Given the description of an element on the screen output the (x, y) to click on. 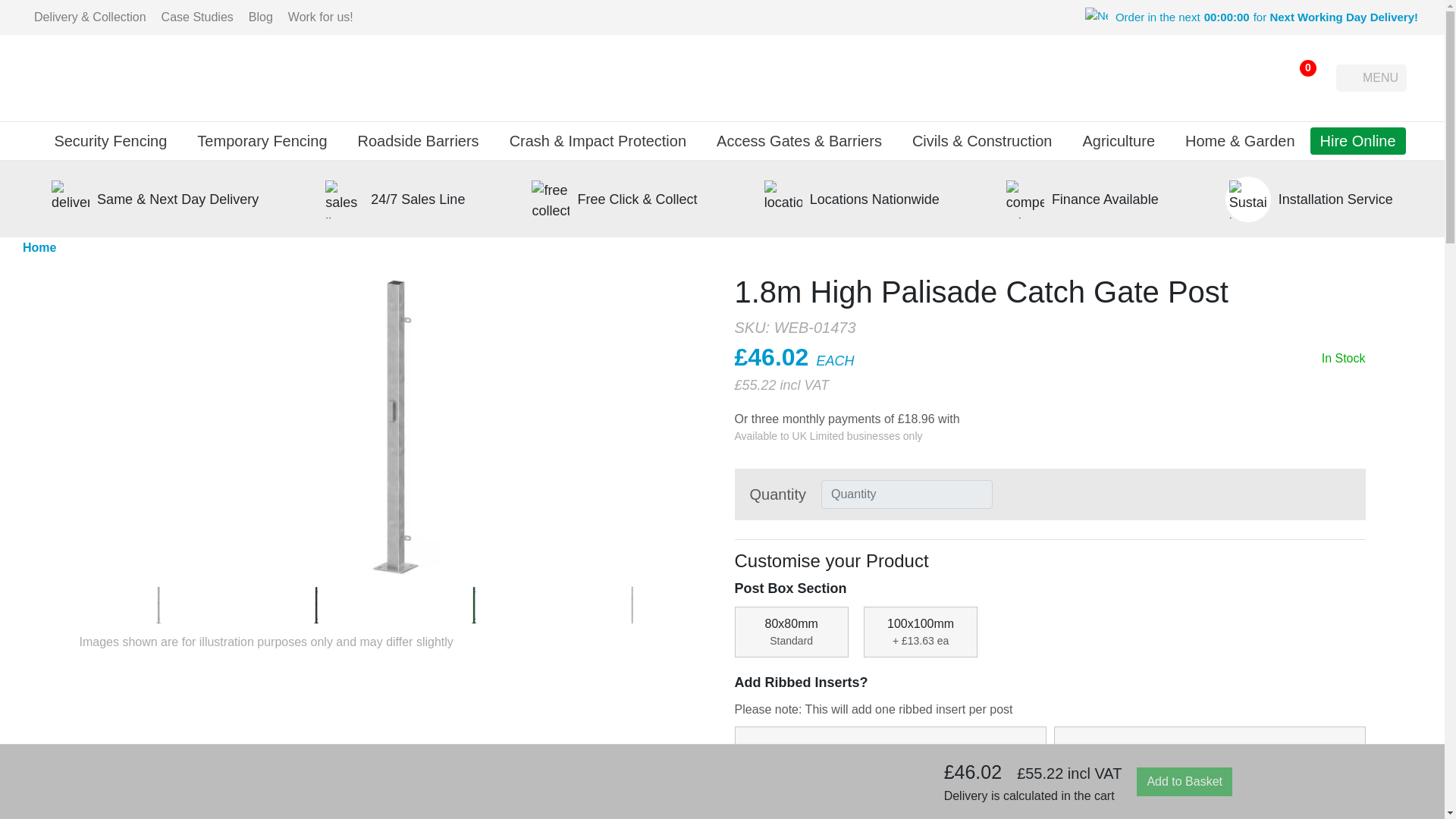
MENU (1371, 77)
0 (1297, 77)
Blog (261, 17)
Add to Basket (1184, 781)
Case Studies (197, 17)
Home (39, 248)
Work for us! (321, 17)
Installation Service (1335, 199)
Locations Nationwide (874, 199)
Finance Available (1104, 199)
